Given the description of an element on the screen output the (x, y) to click on. 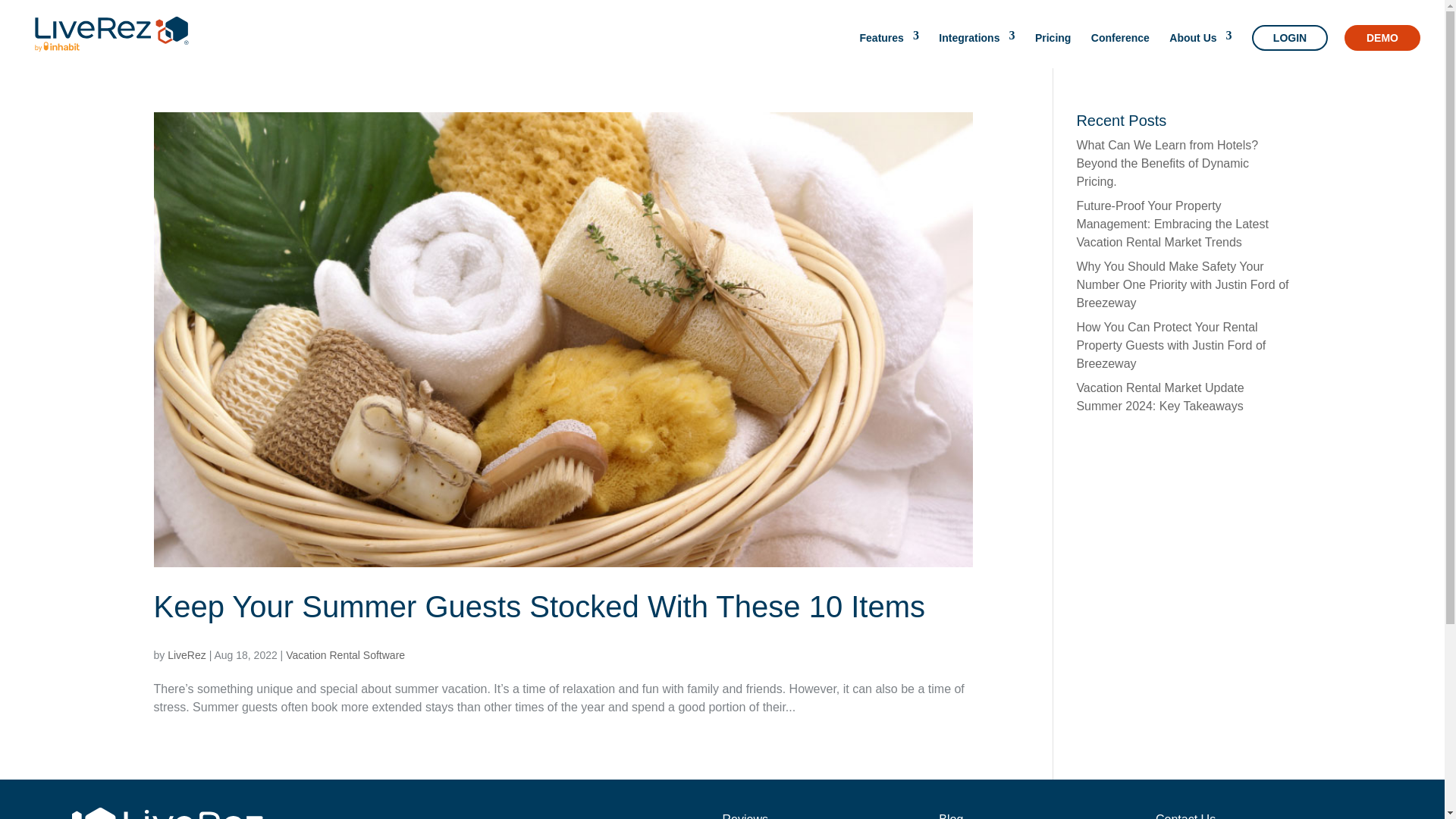
Features (889, 46)
Reviews (744, 816)
LOGIN (1289, 37)
Contact Us (1185, 816)
Posts by LiveRez (186, 654)
Blog (950, 816)
About Us (1200, 46)
Conference (1120, 46)
DEMO (1382, 37)
Integrations (976, 46)
